Given the description of an element on the screen output the (x, y) to click on. 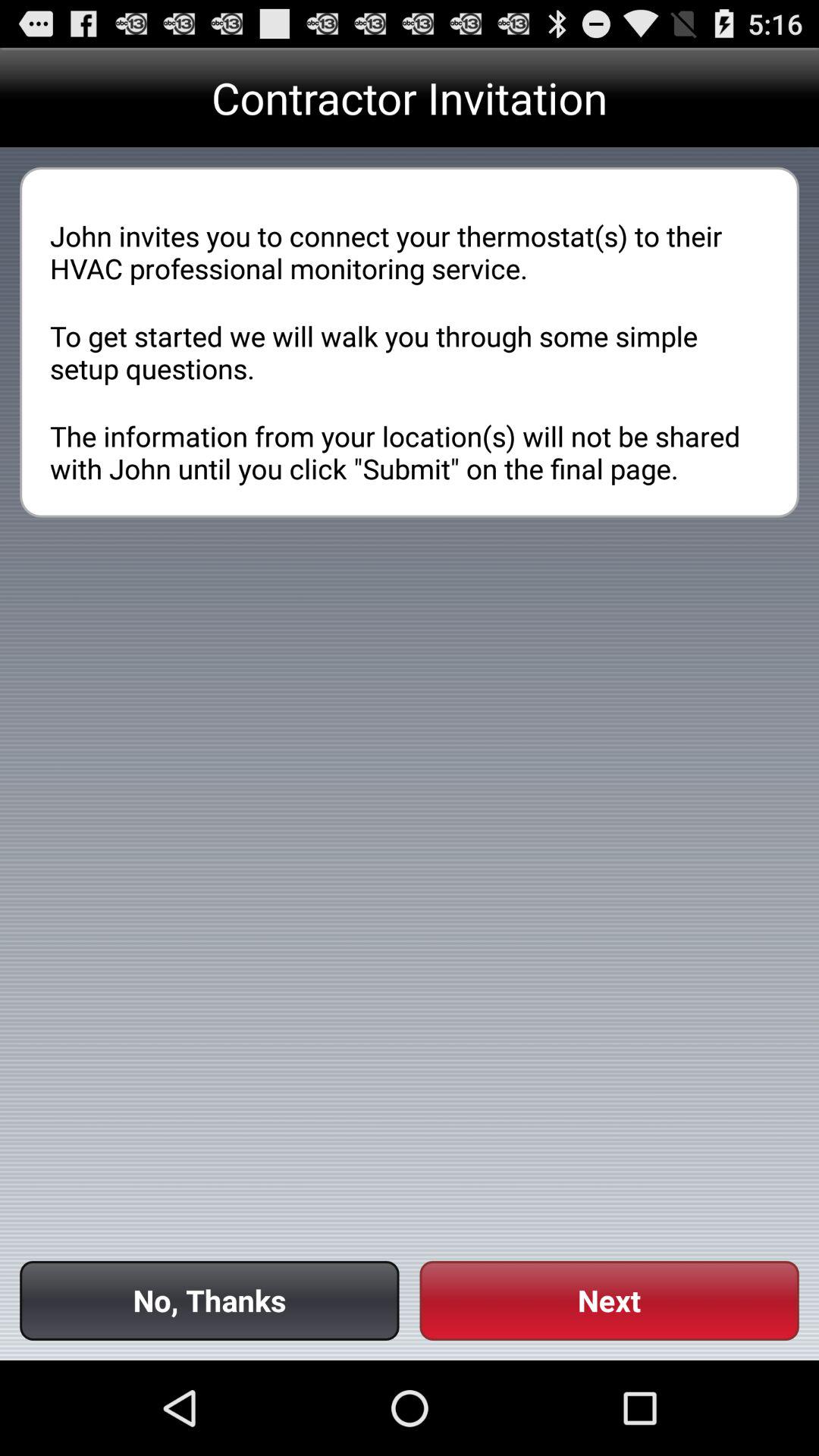
press button to the left of next button (209, 1300)
